Given the description of an element on the screen output the (x, y) to click on. 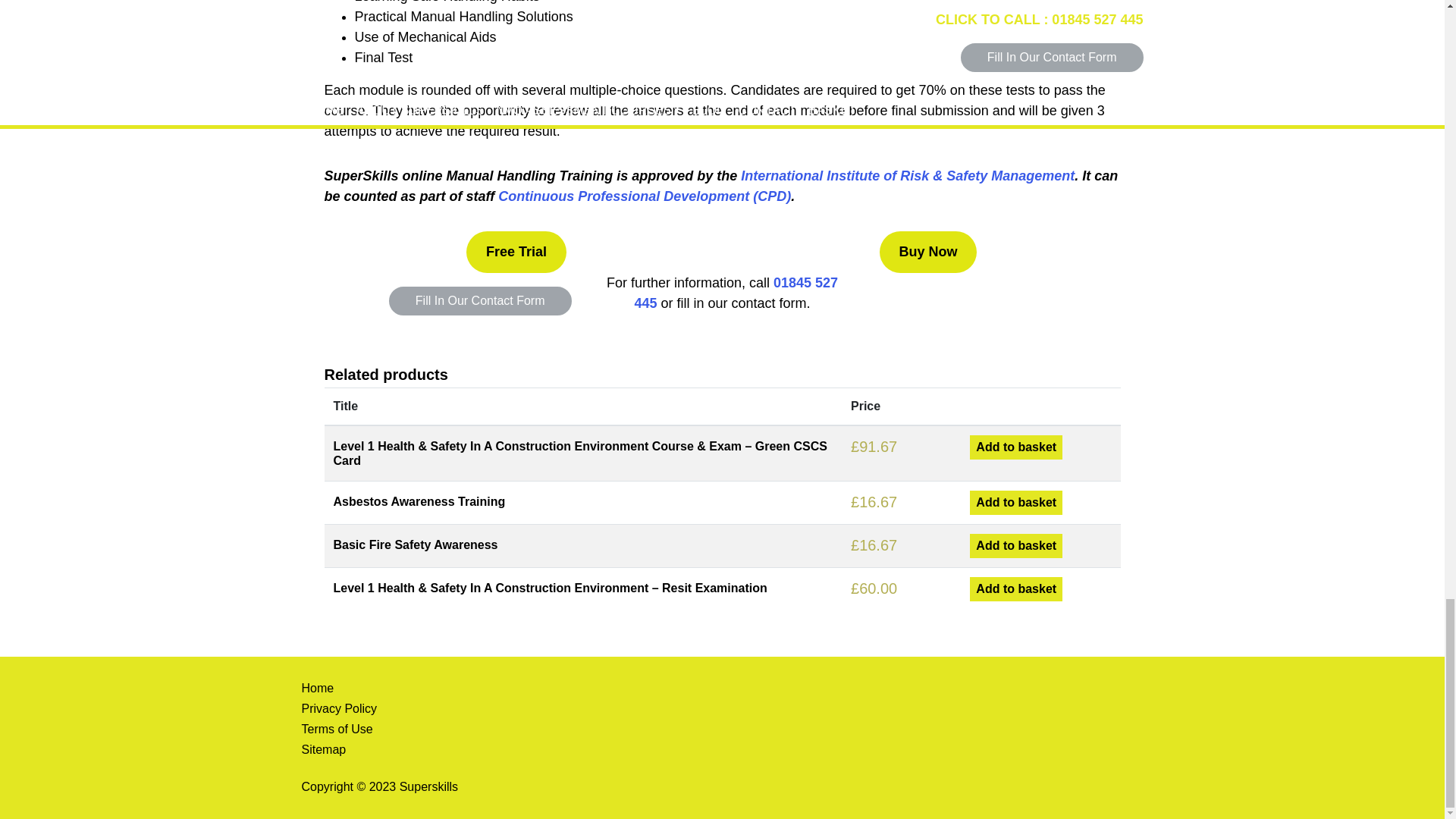
Buy Now (927, 251)
Fill In Our Contact Form (480, 300)
01845 527 445 (735, 293)
Free Trial (515, 251)
